Given the description of an element on the screen output the (x, y) to click on. 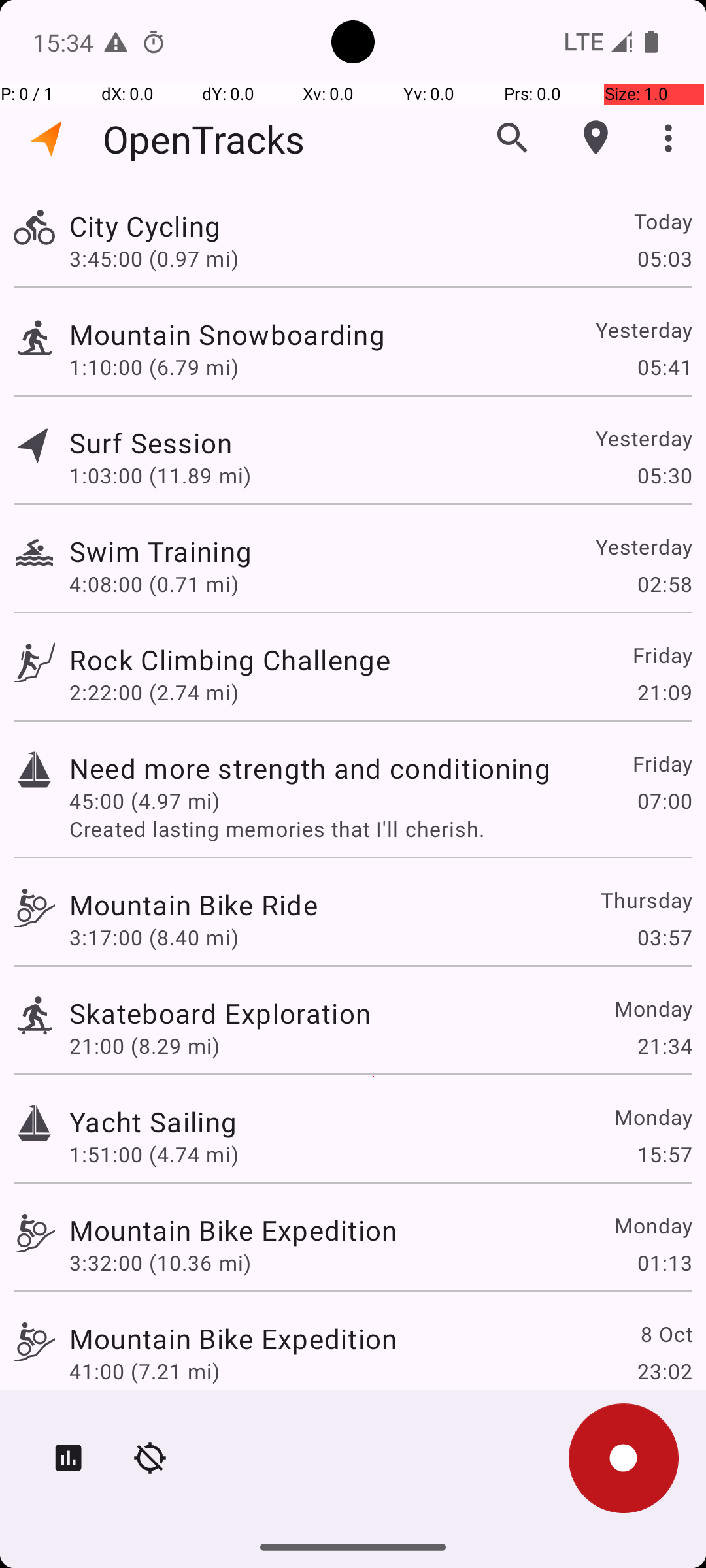
City Cycling Element type: android.widget.TextView (144, 225)
3:45:00 (0.97 mi) Element type: android.widget.TextView (153, 258)
05:03 Element type: android.widget.TextView (664, 258)
Mountain Snowboarding Element type: android.widget.TextView (226, 333)
Yesterday Element type: android.widget.TextView (643, 329)
1:10:00 (6.79 mi) Element type: android.widget.TextView (153, 366)
05:41 Element type: android.widget.TextView (664, 366)
Surf Session Element type: android.widget.TextView (150, 442)
1:03:00 (11.89 mi) Element type: android.widget.TextView (159, 475)
05:30 Element type: android.widget.TextView (664, 475)
Swim Training Element type: android.widget.TextView (160, 550)
4:08:00 (0.71 mi) Element type: android.widget.TextView (153, 583)
02:58 Element type: android.widget.TextView (664, 583)
Rock Climbing Challenge Element type: android.widget.TextView (229, 659)
2:22:00 (2.74 mi) Element type: android.widget.TextView (153, 692)
21:09 Element type: android.widget.TextView (664, 692)
Need more strength and conditioning Element type: android.widget.TextView (309, 767)
45:00 (4.97 mi) Element type: android.widget.TextView (144, 800)
07:00 Element type: android.widget.TextView (664, 800)
Created lasting memories that I'll cherish. Element type: android.widget.TextView (380, 828)
Mountain Bike Ride Element type: android.widget.TextView (193, 904)
Thursday Element type: android.widget.TextView (645, 899)
3:17:00 (8.40 mi) Element type: android.widget.TextView (153, 937)
03:57 Element type: android.widget.TextView (664, 937)
Skateboard Exploration Element type: android.widget.TextView (219, 1012)
Monday Element type: android.widget.TextView (652, 1008)
21:00 (8.29 mi) Element type: android.widget.TextView (144, 1045)
21:34 Element type: android.widget.TextView (664, 1045)
Yacht Sailing Element type: android.widget.TextView (152, 1121)
1:51:00 (4.74 mi) Element type: android.widget.TextView (153, 1154)
15:57 Element type: android.widget.TextView (664, 1154)
Mountain Bike Expedition Element type: android.widget.TextView (233, 1229)
3:32:00 (10.36 mi) Element type: android.widget.TextView (159, 1262)
01:13 Element type: android.widget.TextView (664, 1262)
8 Oct Element type: android.widget.TextView (665, 1333)
41:00 (7.21 mi) Element type: android.widget.TextView (144, 1370)
23:02 Element type: android.widget.TextView (664, 1370)
